Given the description of an element on the screen output the (x, y) to click on. 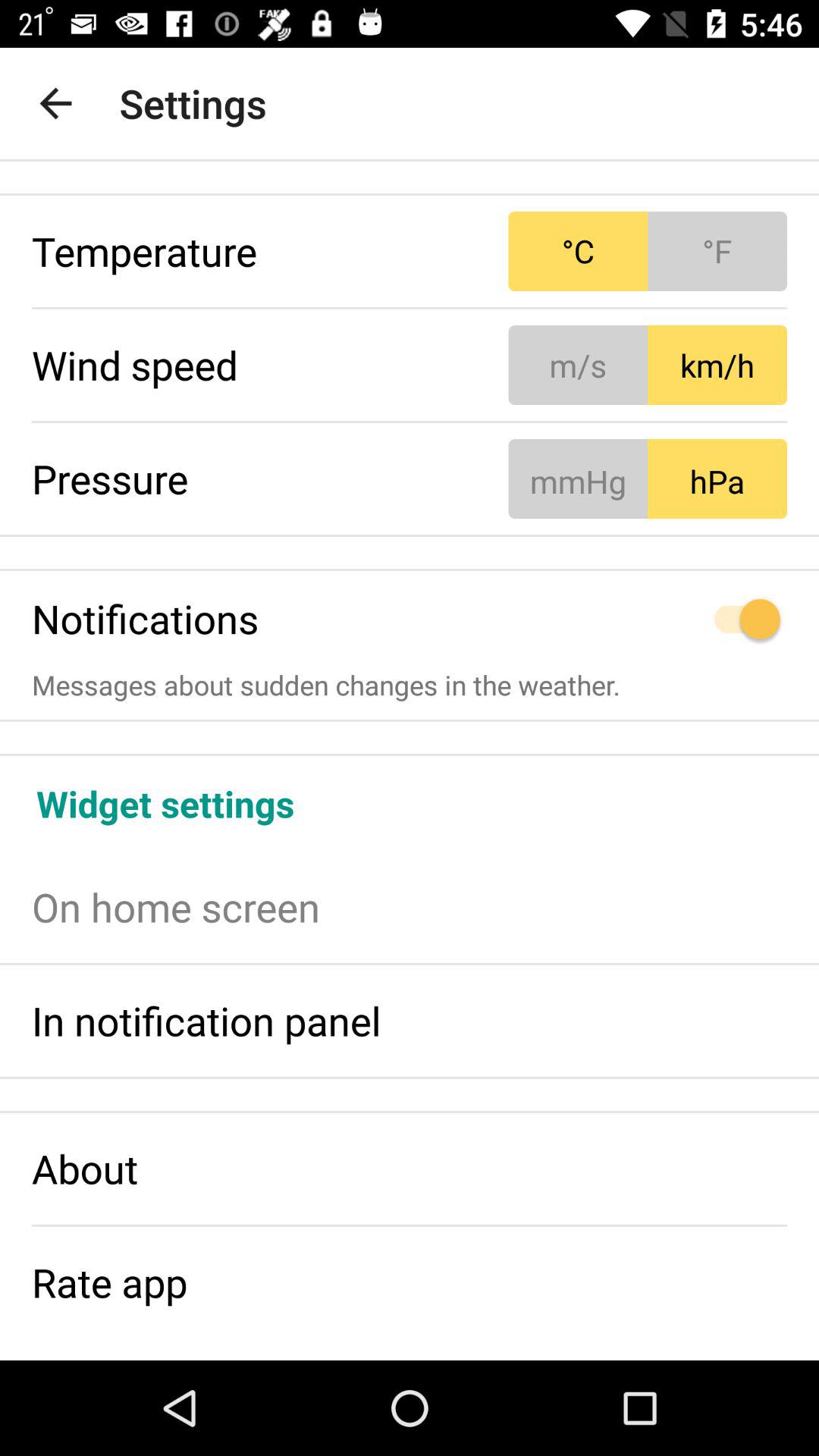
launch the icon to the right of notifications item (647, 618)
